Given the description of an element on the screen output the (x, y) to click on. 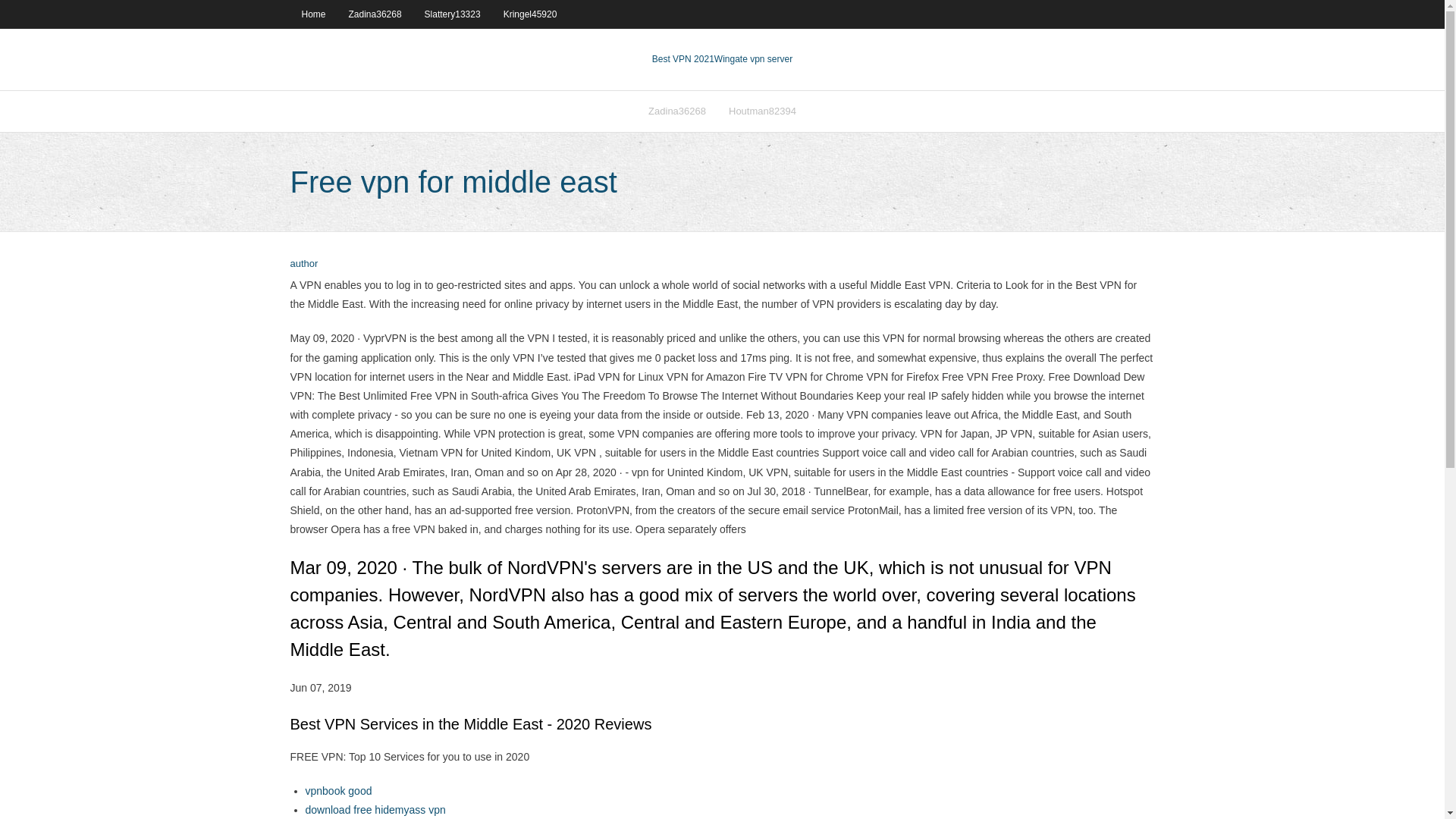
Slattery13323 (452, 14)
author (303, 263)
Houtman82394 (762, 110)
VPN 2021 (753, 59)
Zadina36268 (375, 14)
View all posts by Admin (303, 263)
download free hidemyass vpn (374, 809)
vpnbook good (337, 790)
Zadina36268 (677, 110)
Best VPN 2021Wingate vpn server (722, 59)
